Given the description of an element on the screen output the (x, y) to click on. 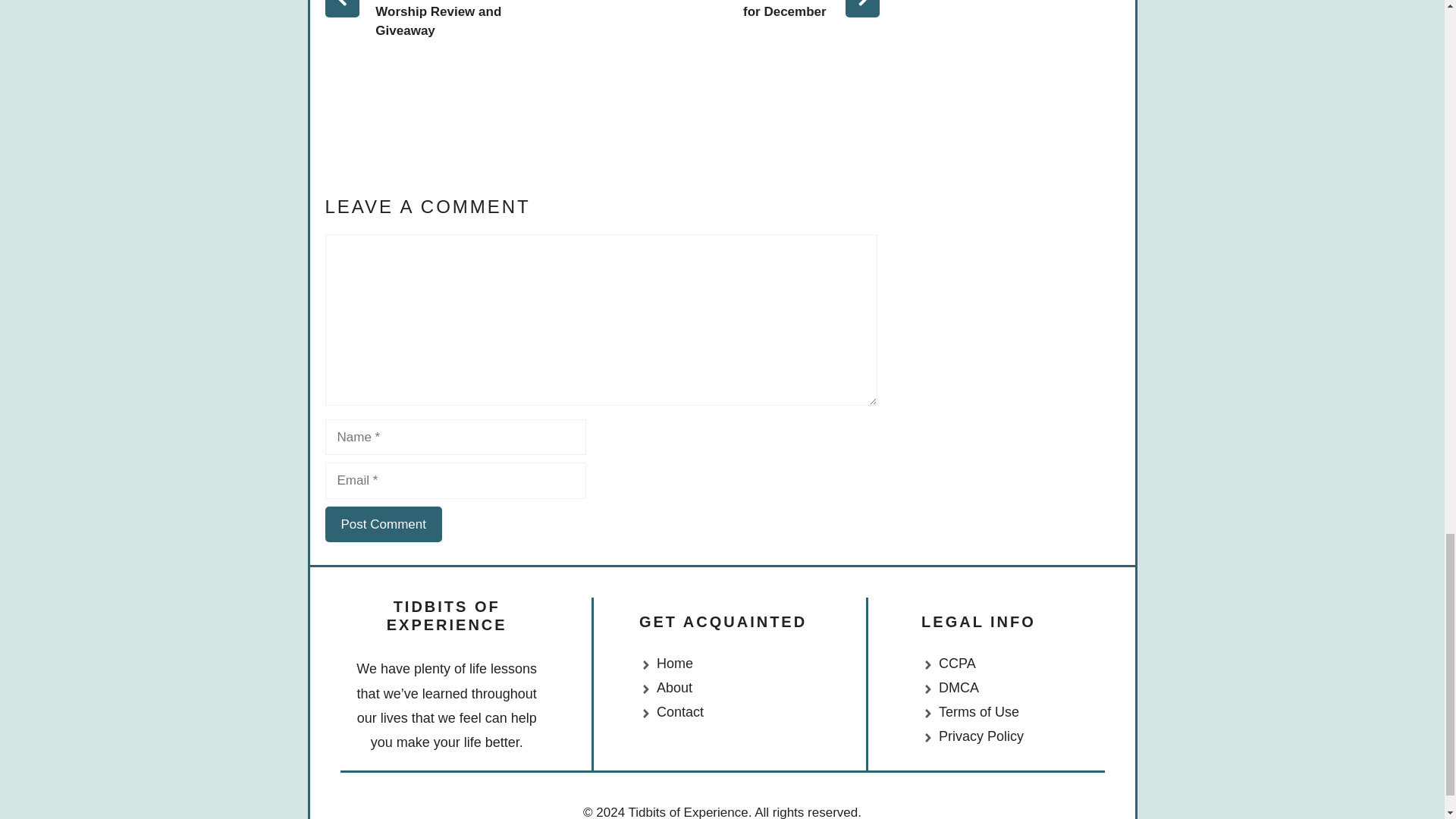
Post Comment (382, 524)
